Given the description of an element on the screen output the (x, y) to click on. 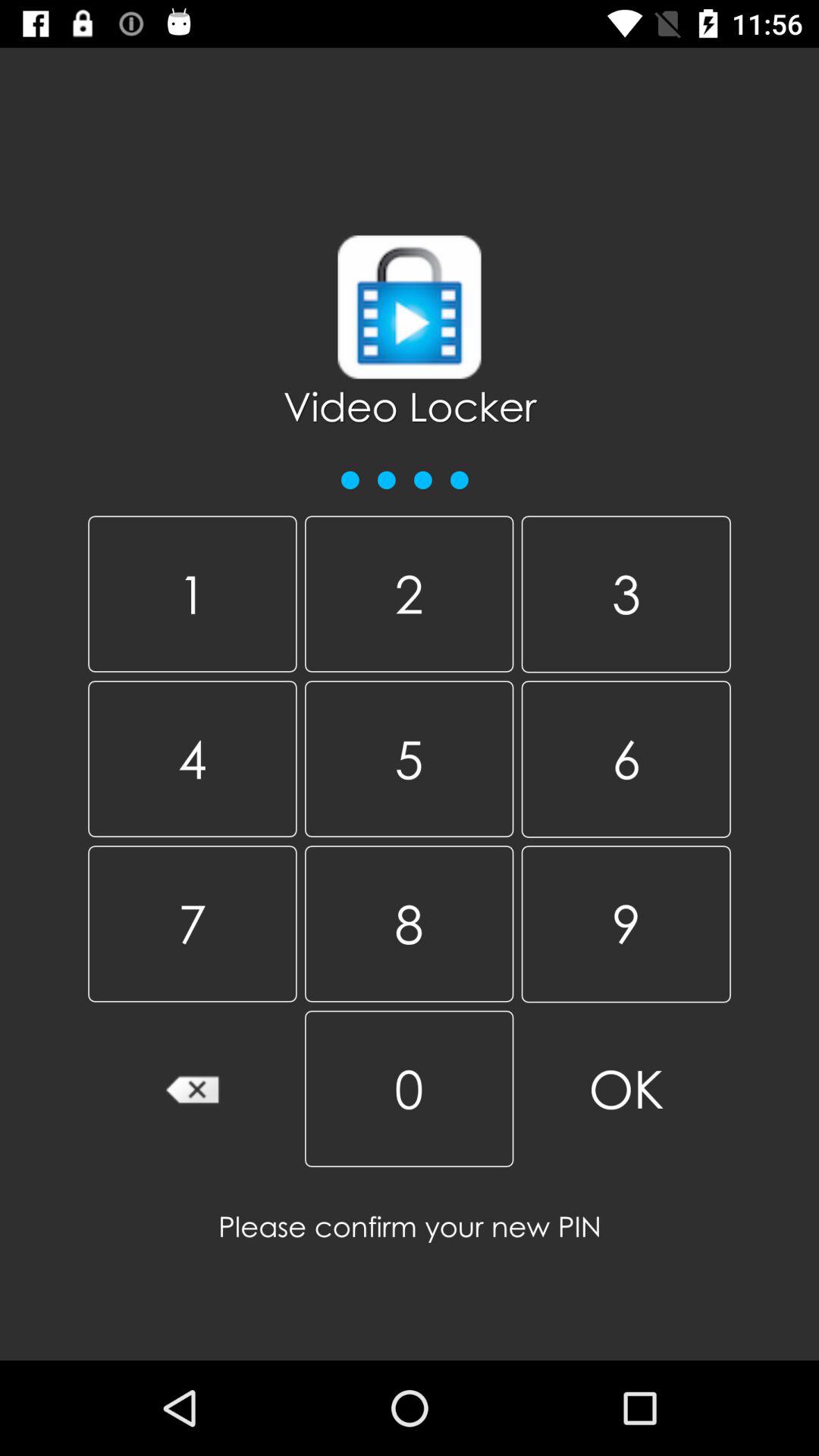
choose item to the right of 5 icon (625, 923)
